Given the description of an element on the screen output the (x, y) to click on. 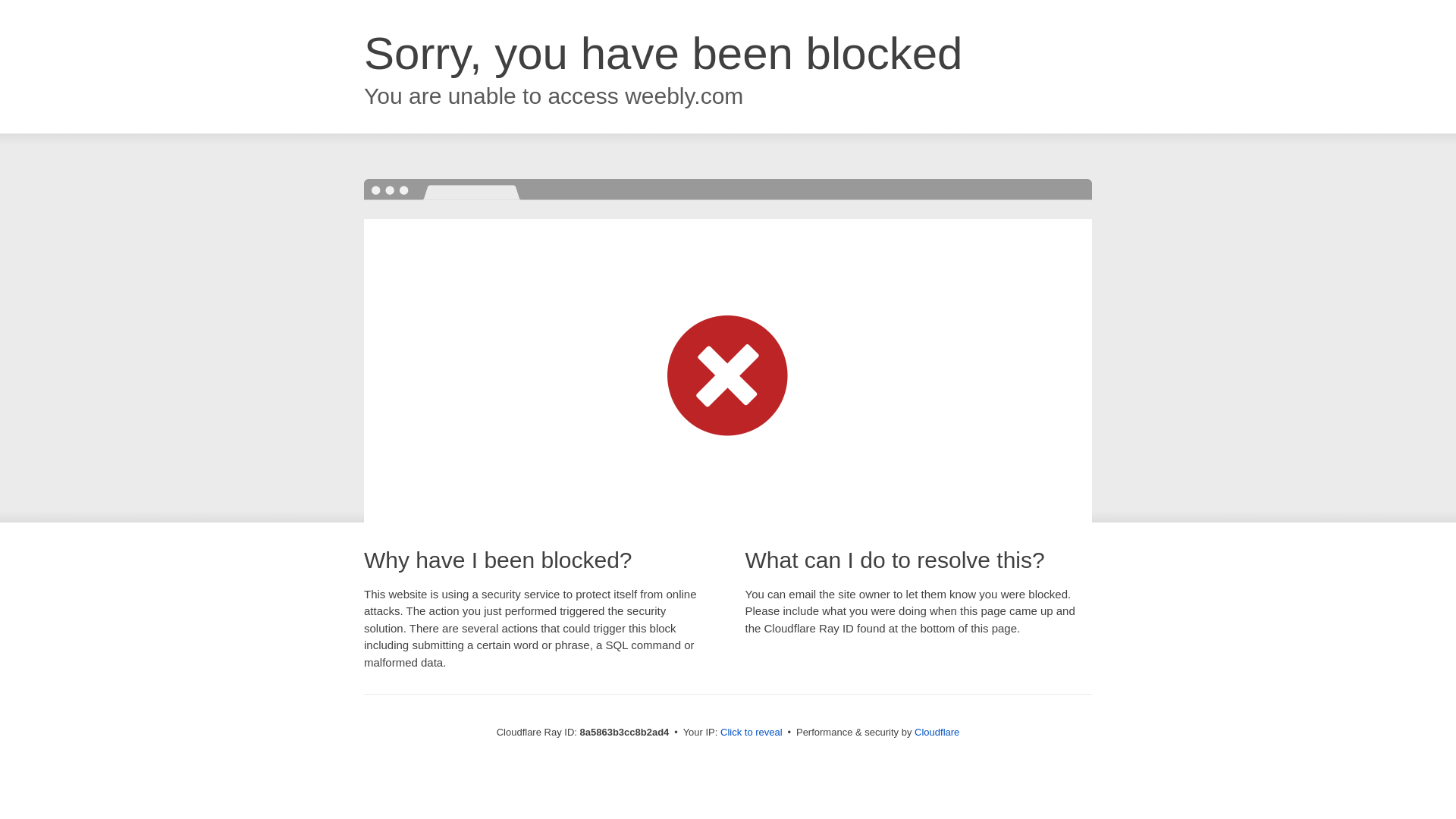
Click to reveal (751, 732)
Cloudflare (936, 731)
